Given the description of an element on the screen output the (x, y) to click on. 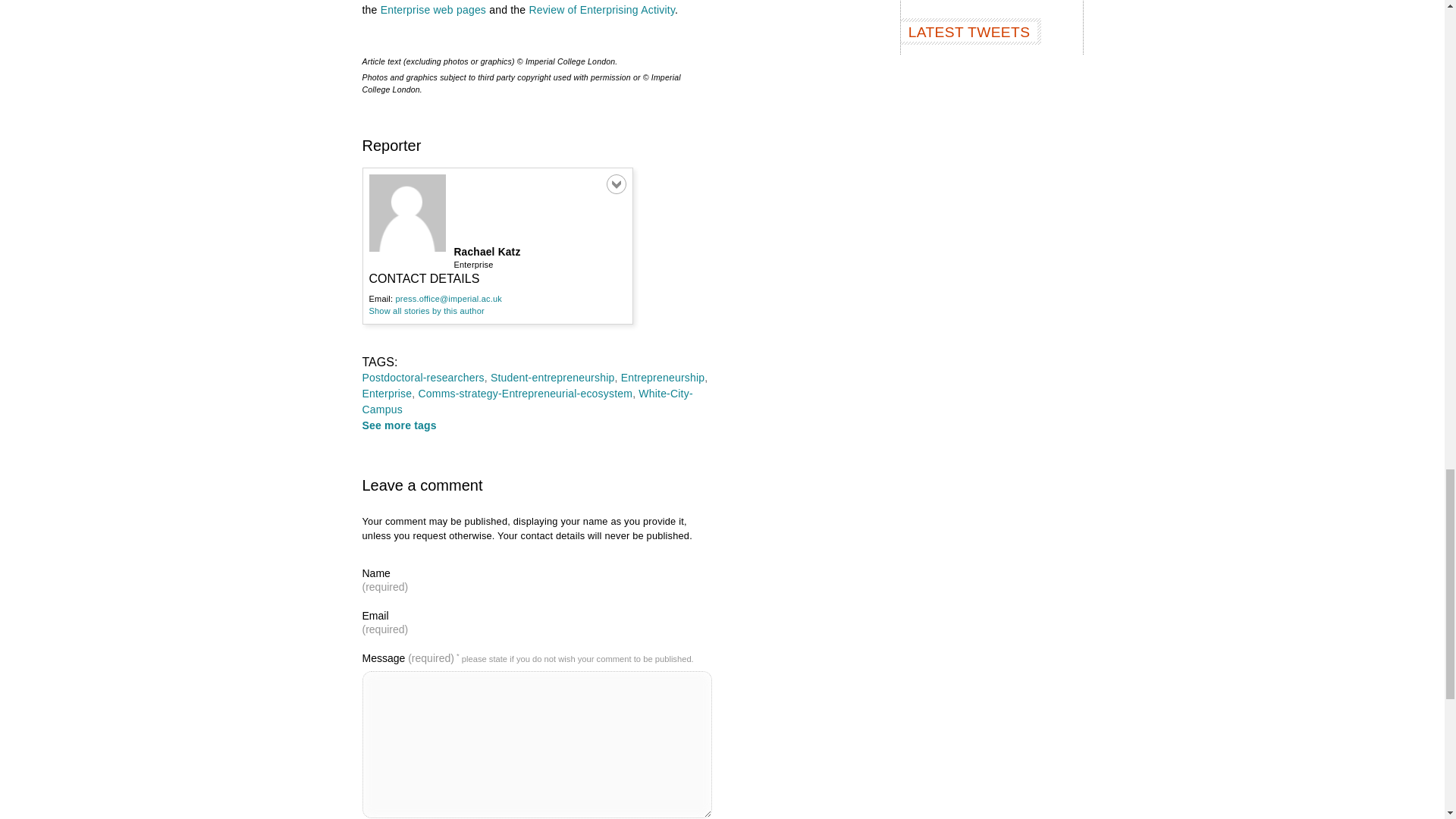
Enterprise web pages (433, 9)
White-City-Campus (527, 401)
Comms-strategy-Entrepreneurial-ecosystem (526, 393)
Enterprise (387, 393)
Review of Enterprising Activity (601, 9)
Postdoctoral-researchers (423, 377)
Click to expand or contract (616, 184)
See more tags (399, 425)
Student-entrepreneurship (552, 377)
Entrepreneurship (662, 377)
Show all stories by this author (425, 310)
